Given the description of an element on the screen output the (x, y) to click on. 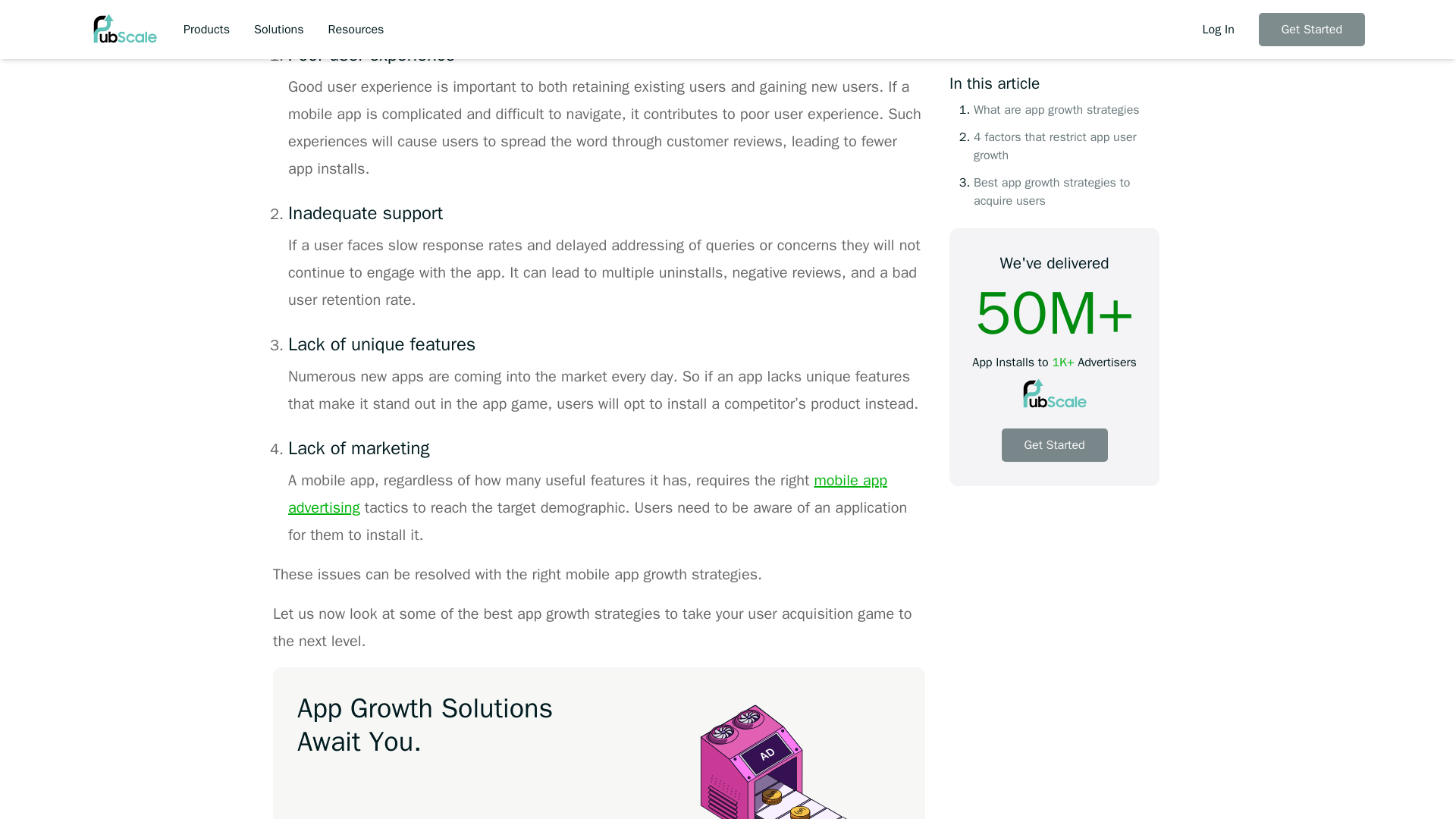
Blog CTA Image (786, 755)
mobile app advertising (587, 493)
